Given the description of an element on the screen output the (x, y) to click on. 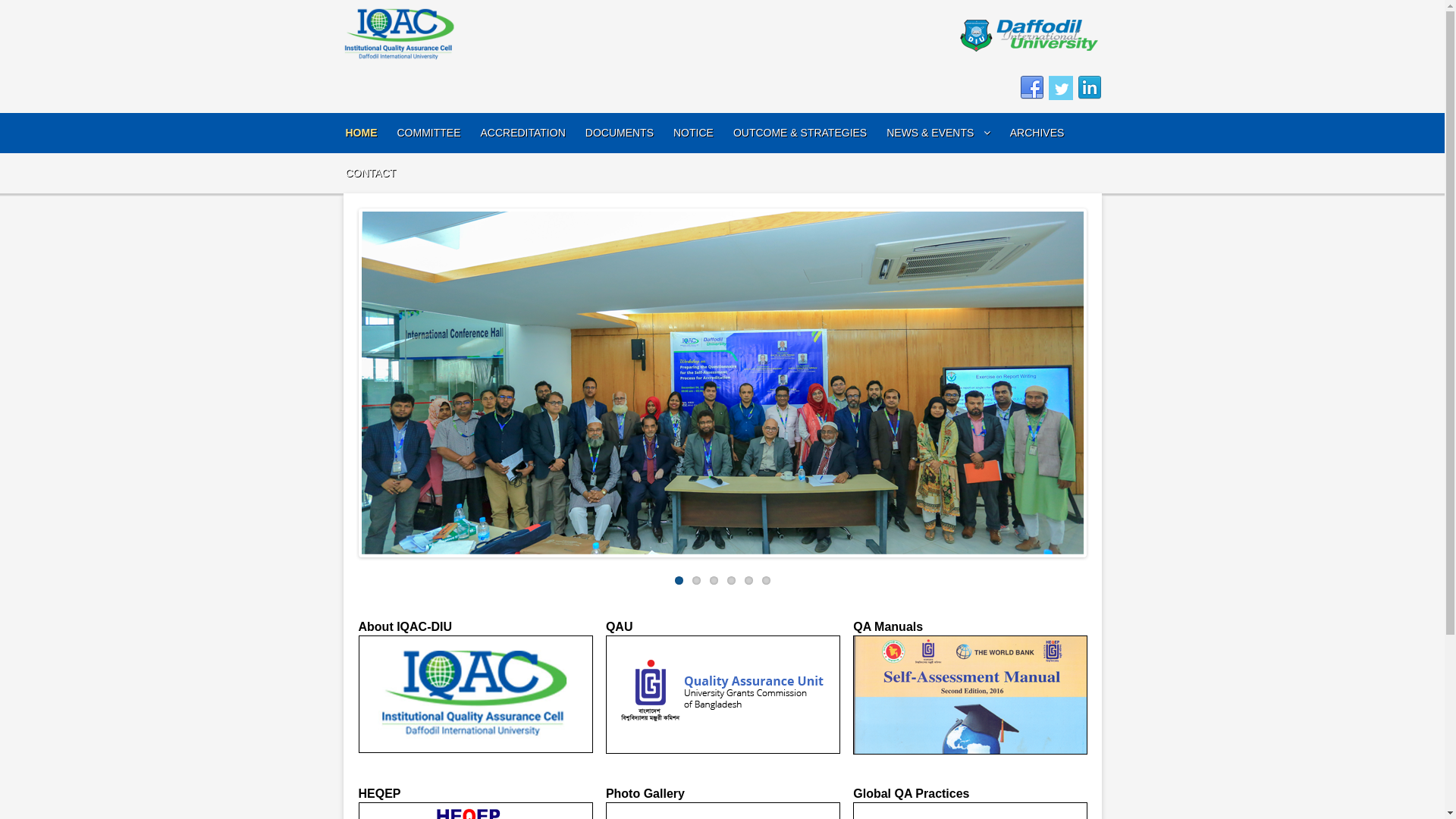
NEWS & EVENTS Element type: text (938, 132)
6 Element type: text (765, 580)
DOCUMENTS Element type: text (619, 132)
NOTICE Element type: text (693, 132)
OUTCOME & STRATEGIES Element type: text (799, 132)
2 Element type: text (695, 580)
5 Element type: text (748, 580)
CONTACT Element type: text (370, 173)
HOME Element type: text (361, 132)
4 Element type: text (730, 580)
ARCHIVES Element type: text (1037, 132)
ACCREDITATION Element type: text (522, 132)
1 Element type: text (678, 580)
3 Element type: text (713, 580)
COMMITTEE Element type: text (429, 132)
